Given the description of an element on the screen output the (x, y) to click on. 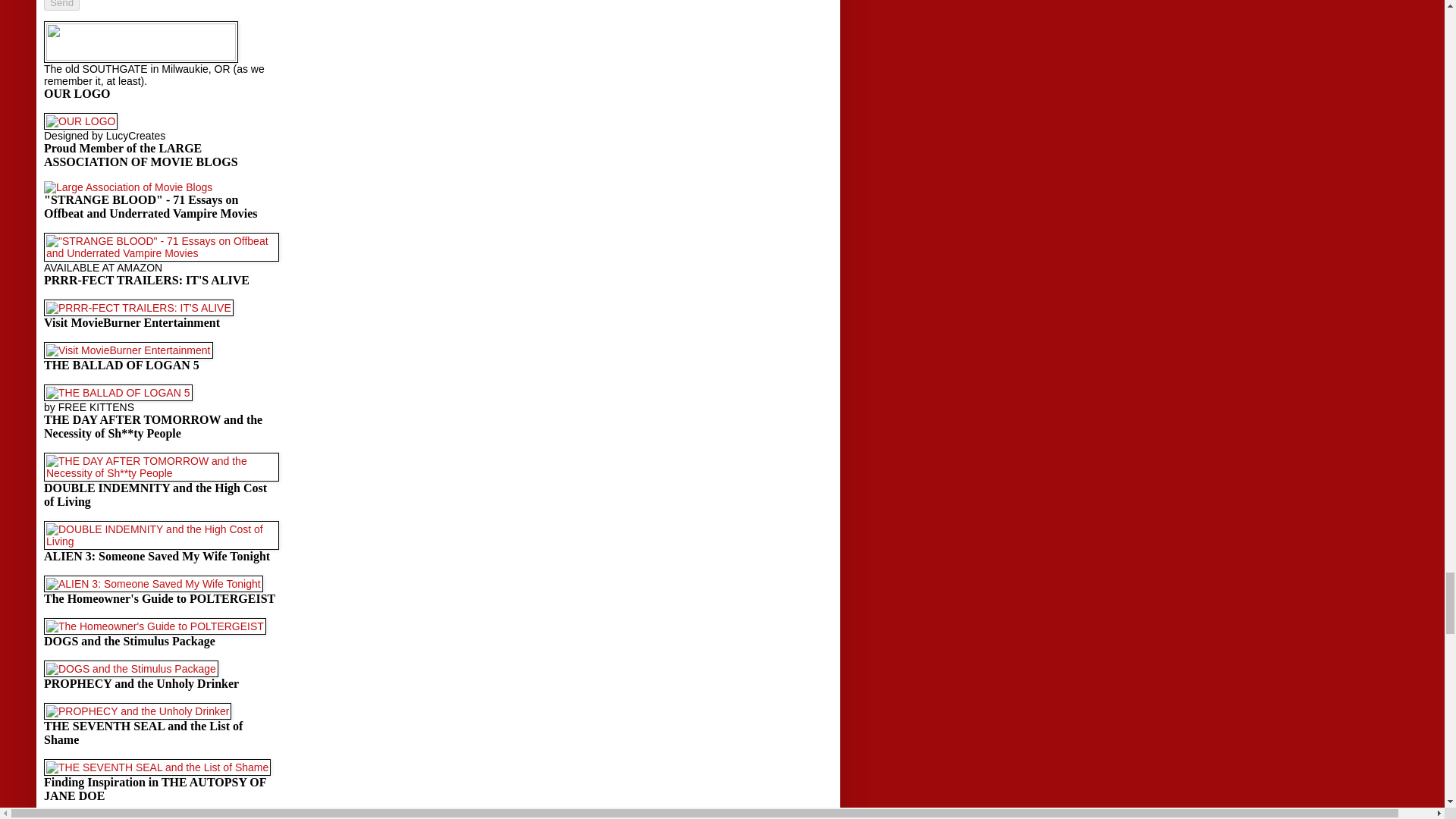
Send (61, 5)
